Given the description of an element on the screen output the (x, y) to click on. 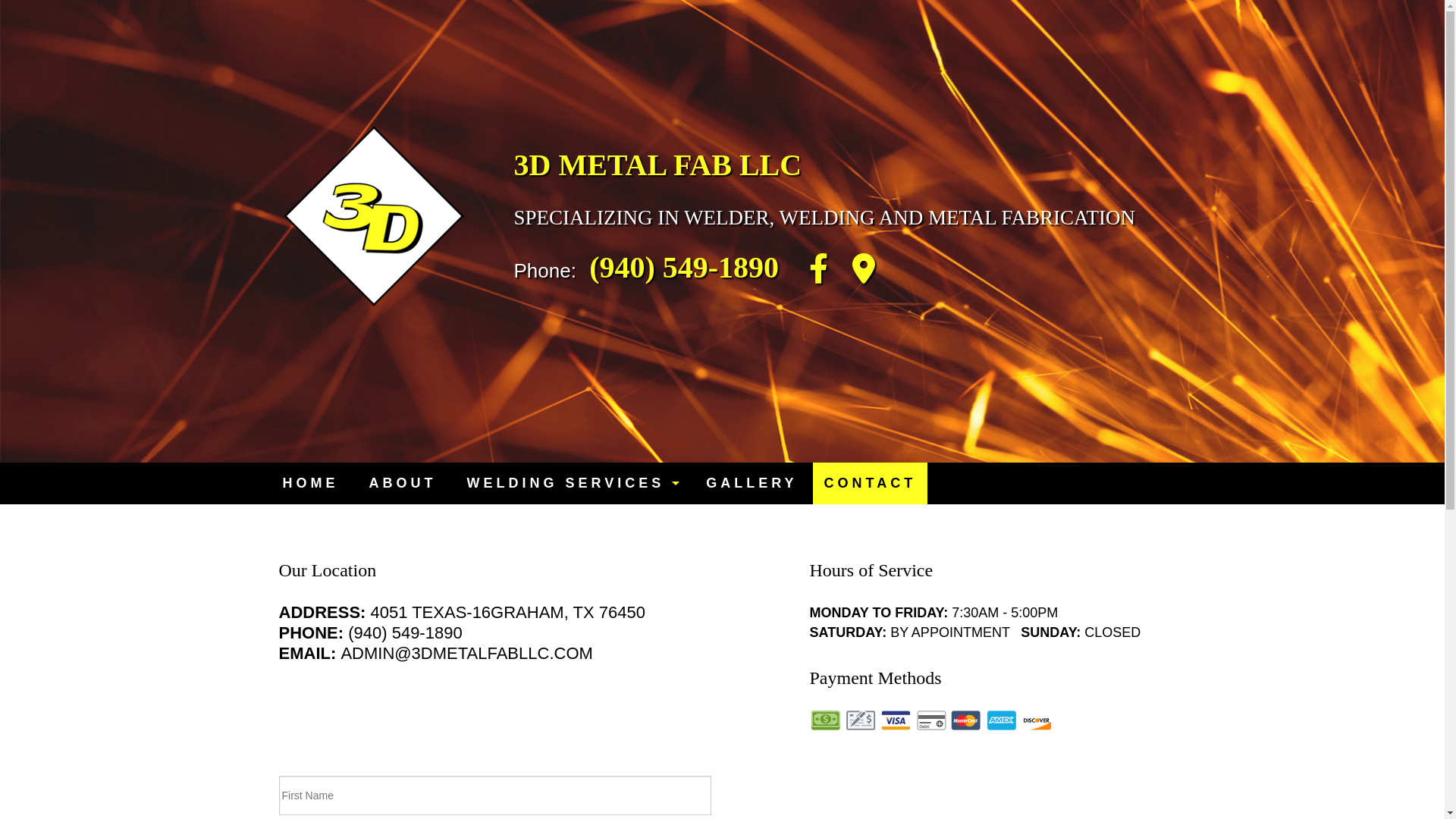
custom fabrication Element type: text (571, 640)
GALLERY Element type: text (751, 483)
ABOUT Element type: text (402, 483)
Check Element type: hover (860, 720)
3D METAL FAB LLC Element type: text (657, 164)
Cash Element type: hover (825, 720)
Discover Element type: hover (1036, 720)
HOME Element type: text (309, 483)
truck accessories Element type: text (571, 610)
equipment repair Element type: text (571, 519)
Visa Element type: hover (895, 720)
American Express Element type: hover (1001, 720)
(940) 549-1890 Element type: text (683, 267)
metal installation Element type: text (571, 670)
metal buildings and barndominiums Element type: text (571, 549)
CONTACT Element type: text (870, 483)
Mastercard Element type: hover (966, 720)
Debit Card Element type: hover (931, 720)
steel sales & welding supplies Element type: text (571, 579)
WELDING SERVICES Element type: text (571, 483)
